Given the description of an element on the screen output the (x, y) to click on. 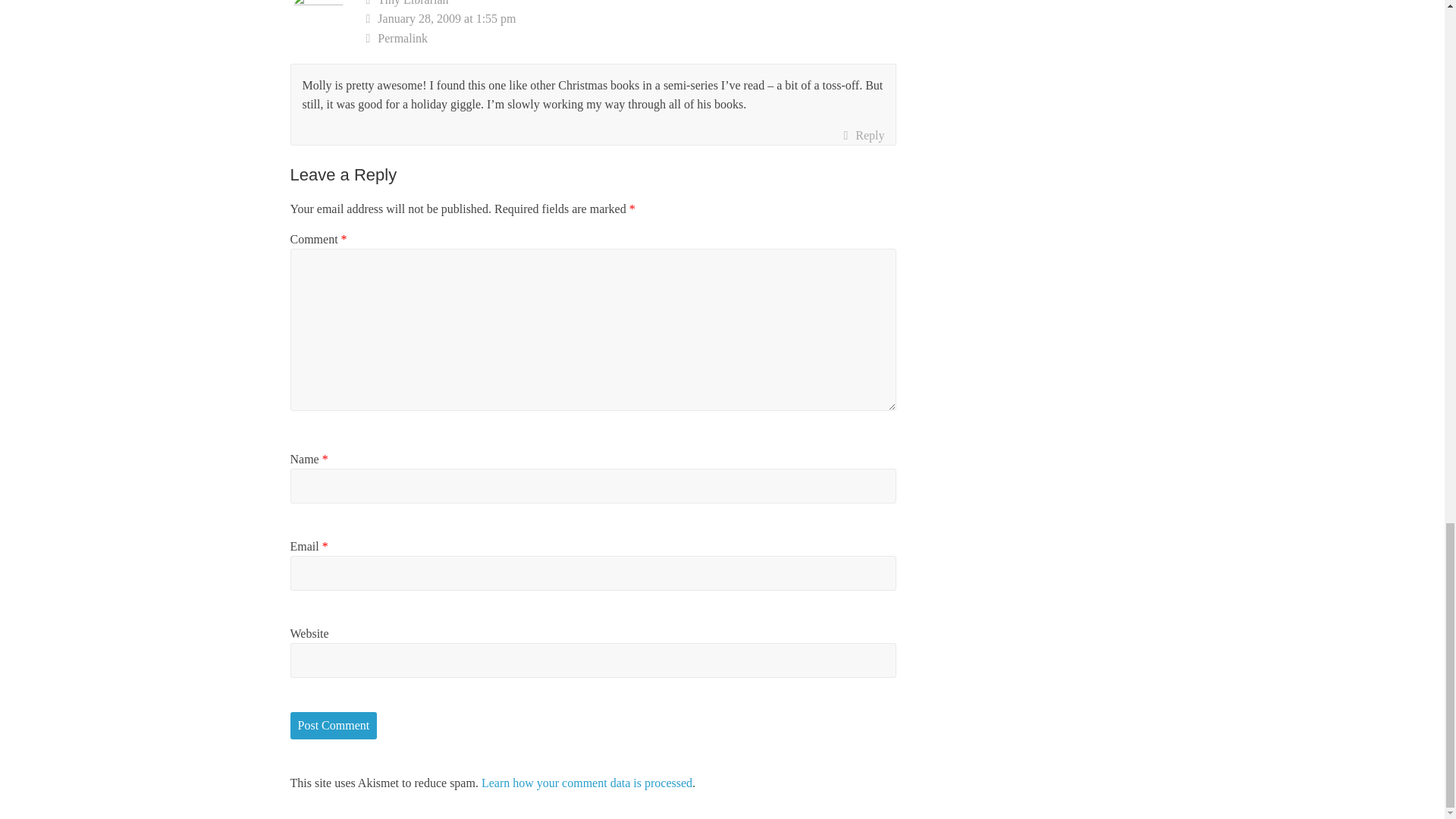
Tiny Librarian (412, 2)
Post Comment (333, 725)
Reply (863, 135)
Permalink (630, 38)
